Given the description of an element on the screen output the (x, y) to click on. 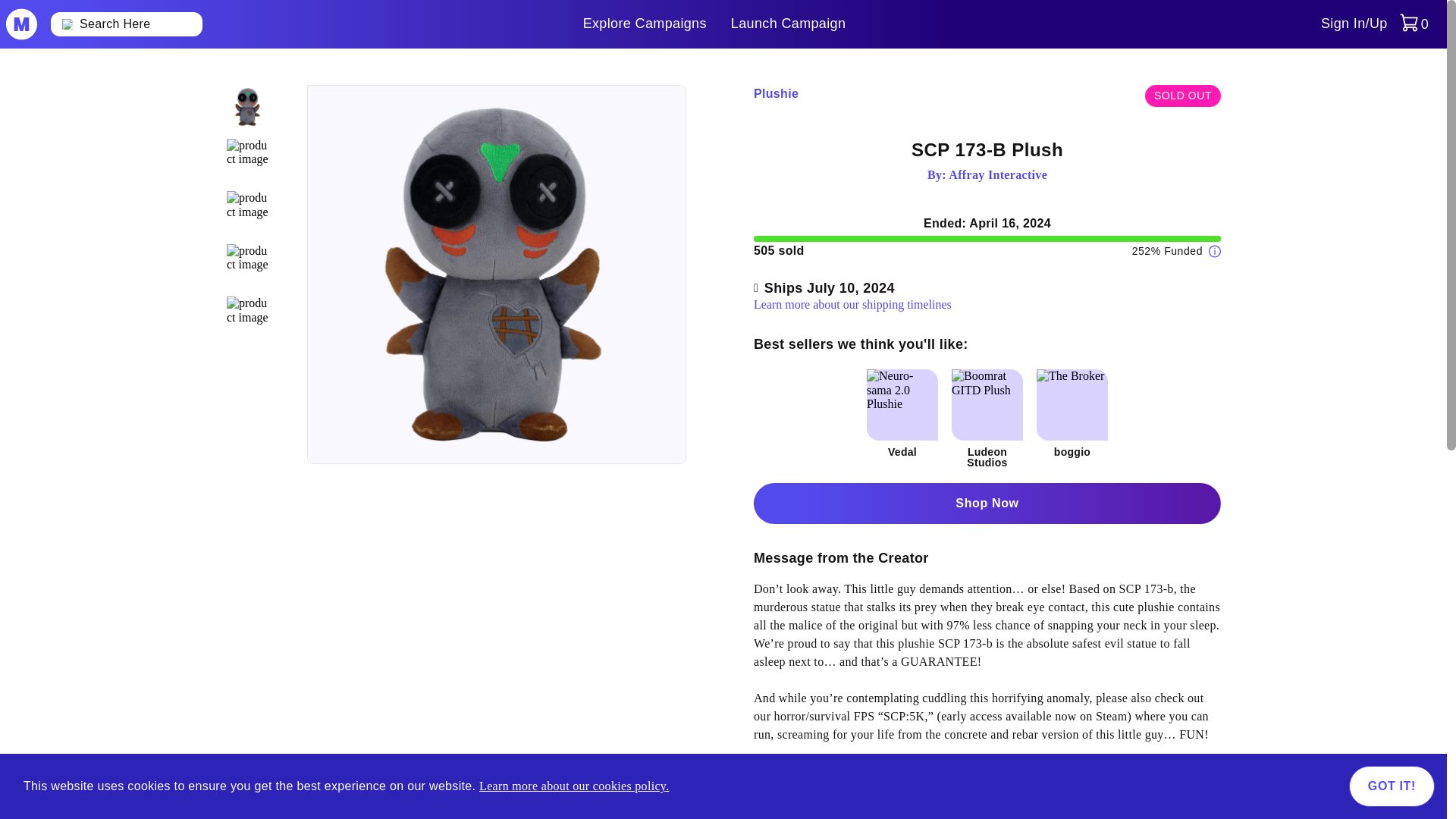
By: Affray Interactive (986, 174)
Plushie (775, 96)
Launch Campaign (787, 24)
Shop Now (987, 503)
Explore Campaigns (644, 24)
Learn more about our shipping timelines (853, 305)
